Given the description of an element on the screen output the (x, y) to click on. 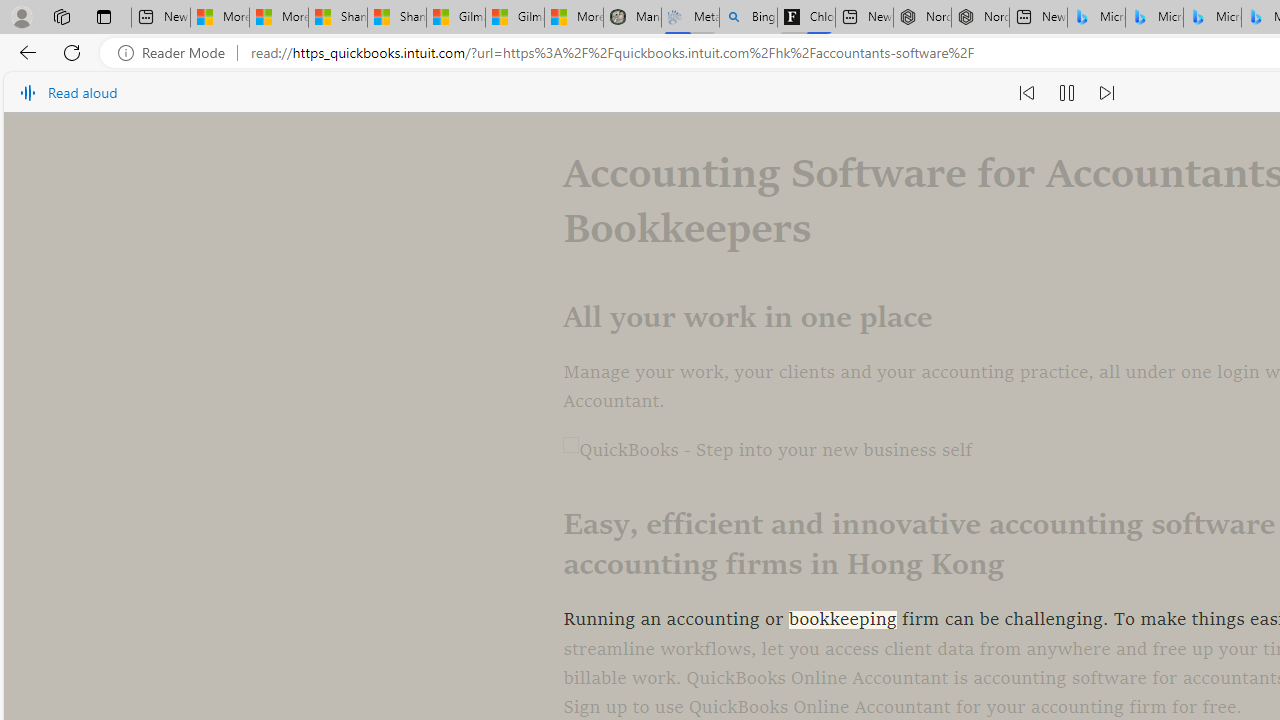
Read next paragraph (1105, 92)
Microsoft Bing Travel - Stays in Bangkok, Bangkok, Thailand (1154, 17)
Reader Mode (177, 53)
Nordace - #1 Japanese Best-Seller - Siena Smart Backpack (980, 17)
Microsoft Bing Travel - Shangri-La Hotel Bangkok (1212, 17)
Chloe Sorvino (806, 17)
Pause read aloud (Ctrl+Shift+U) (1065, 92)
Bing Real Estate - Home sales and rental listings (747, 17)
Manatee Mortality Statistics | FWC (632, 17)
Shanghai, China weather forecast | Microsoft Weather (396, 17)
